Given the description of an element on the screen output the (x, y) to click on. 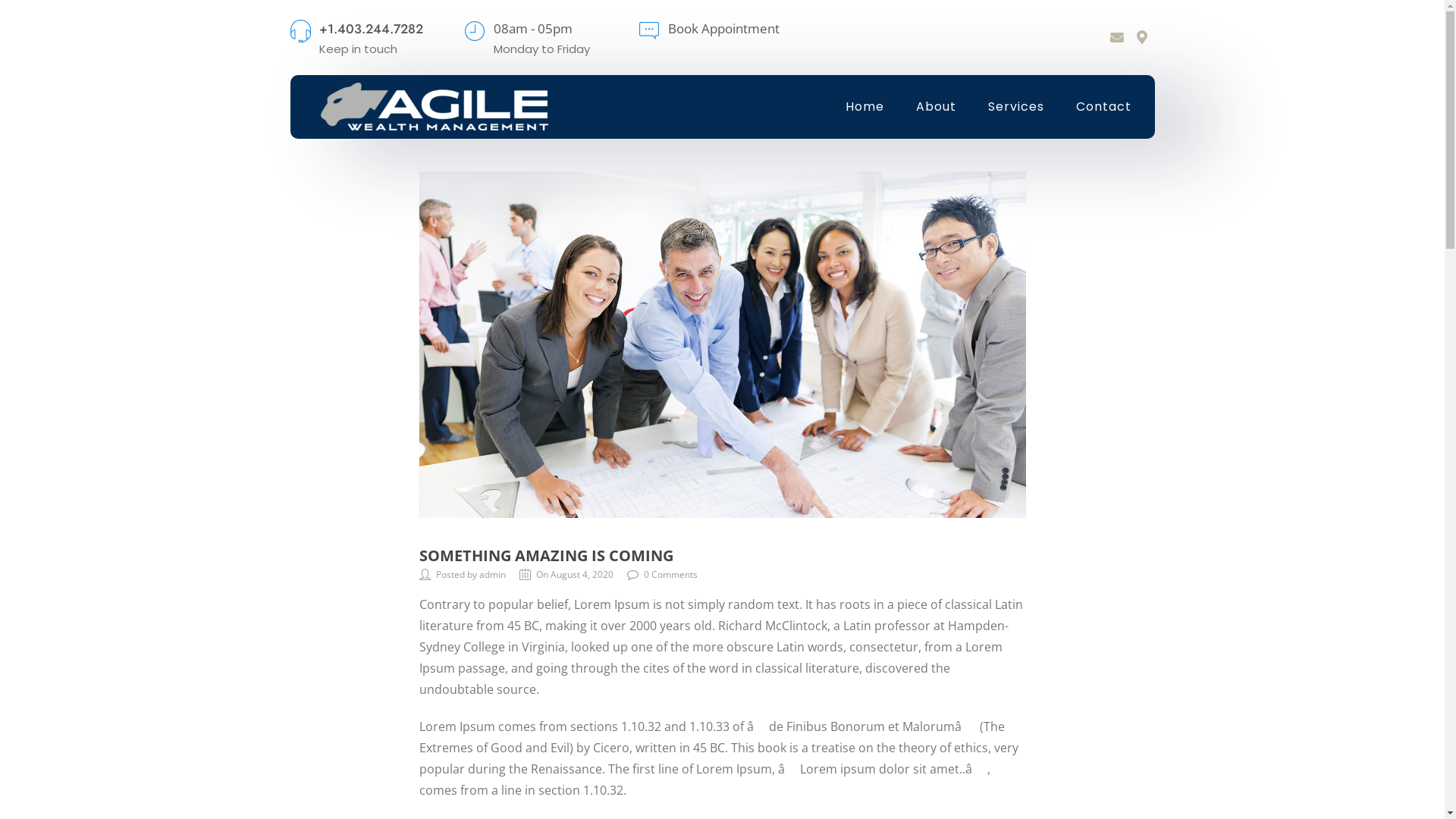
Contact Element type: text (1103, 106)
icon-8 Element type: hover (299, 30)
Home Element type: text (864, 106)
Book Appointment Element type: text (723, 28)
About Element type: text (936, 106)
Services Element type: text (1016, 106)
